Given the description of an element on the screen output the (x, y) to click on. 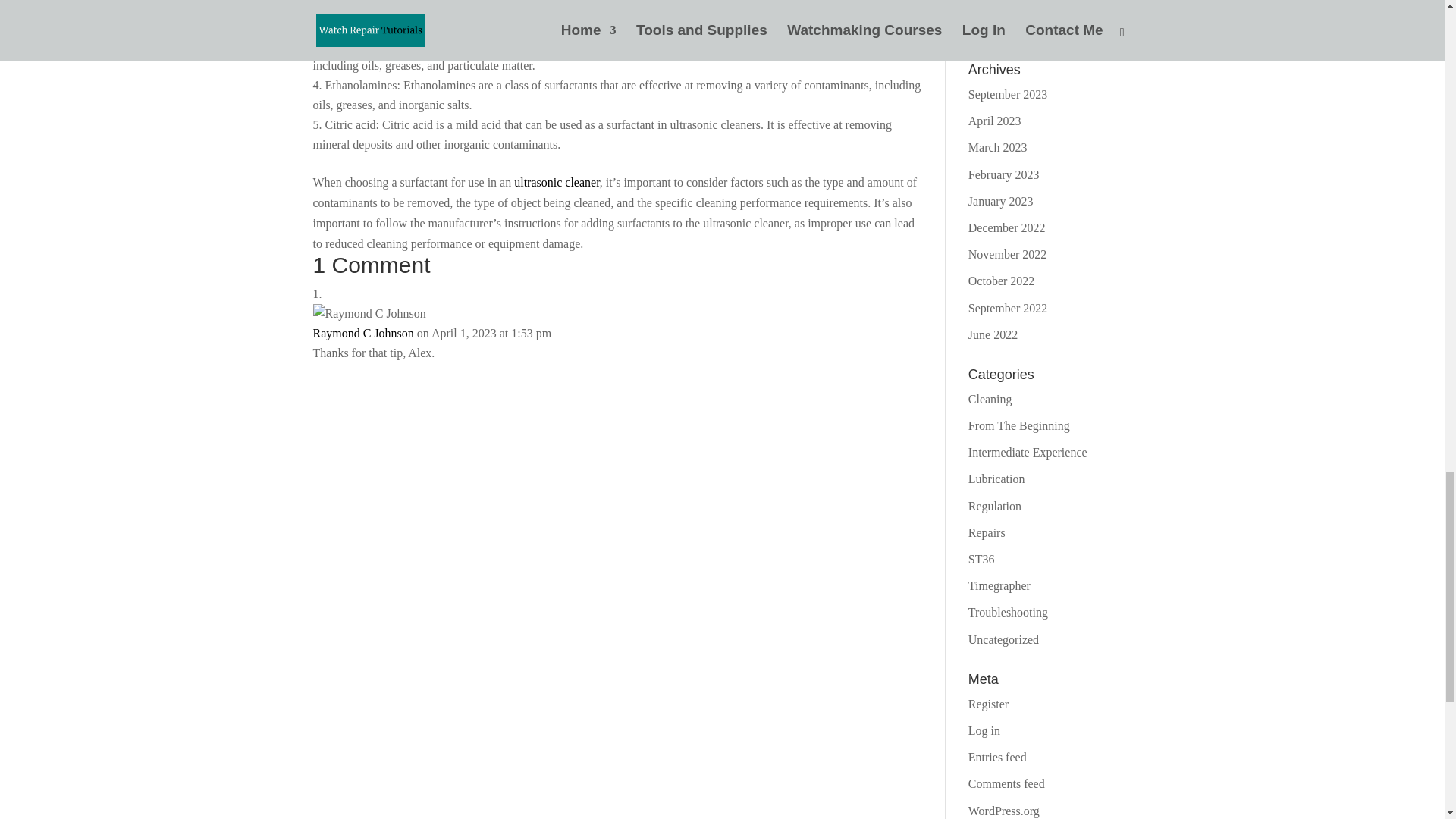
Raymond C Johnson (363, 332)
ultrasonic cleaner (556, 182)
DK SONIC Ultrasonic Cleaner (556, 182)
